Given the description of an element on the screen output the (x, y) to click on. 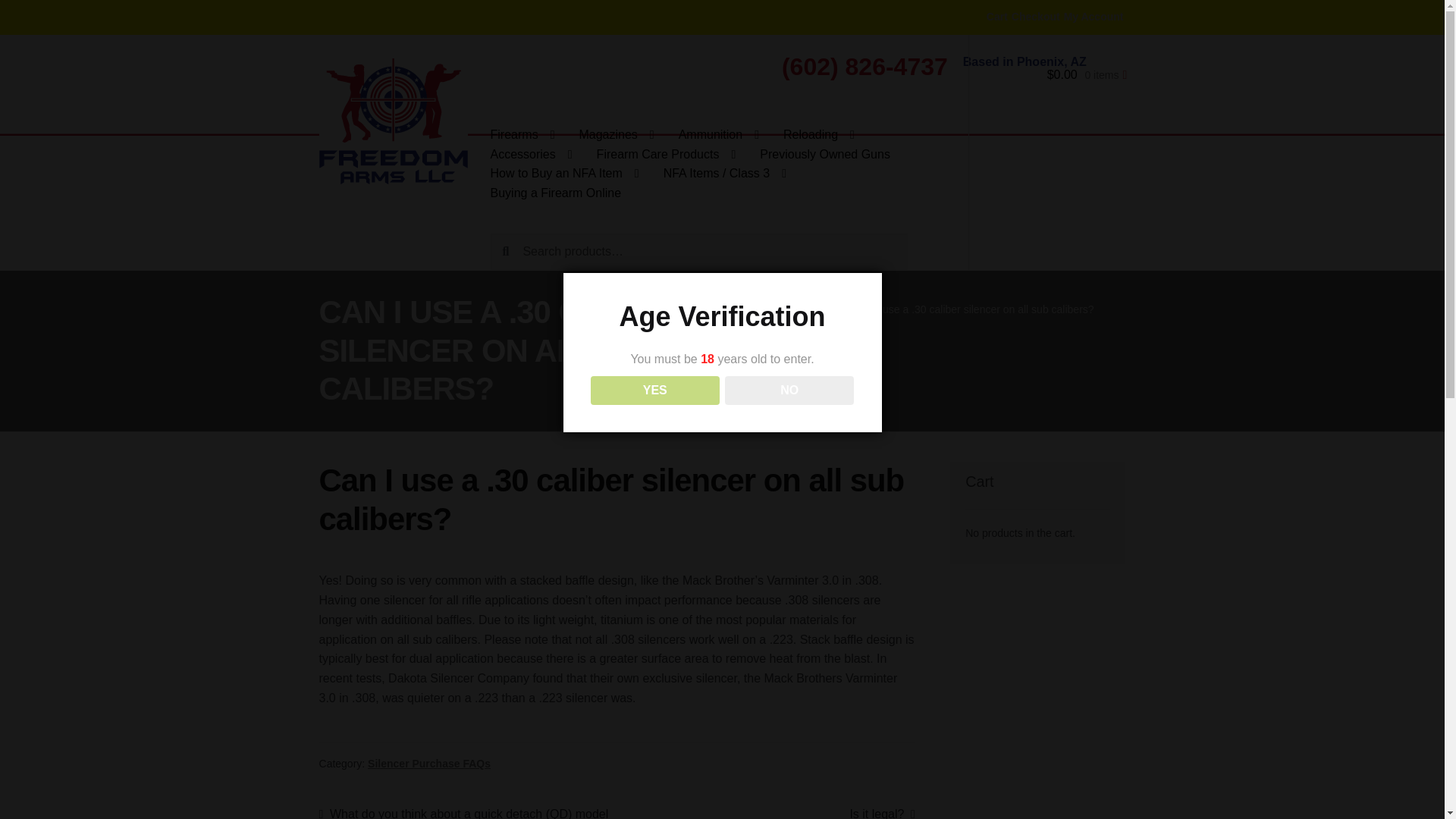
Magazines (615, 134)
My Account (1094, 16)
Checkout (1035, 16)
Cart (997, 16)
View your shopping cart (1047, 90)
Ammunition (718, 134)
Firearms (523, 134)
